Given the description of an element on the screen output the (x, y) to click on. 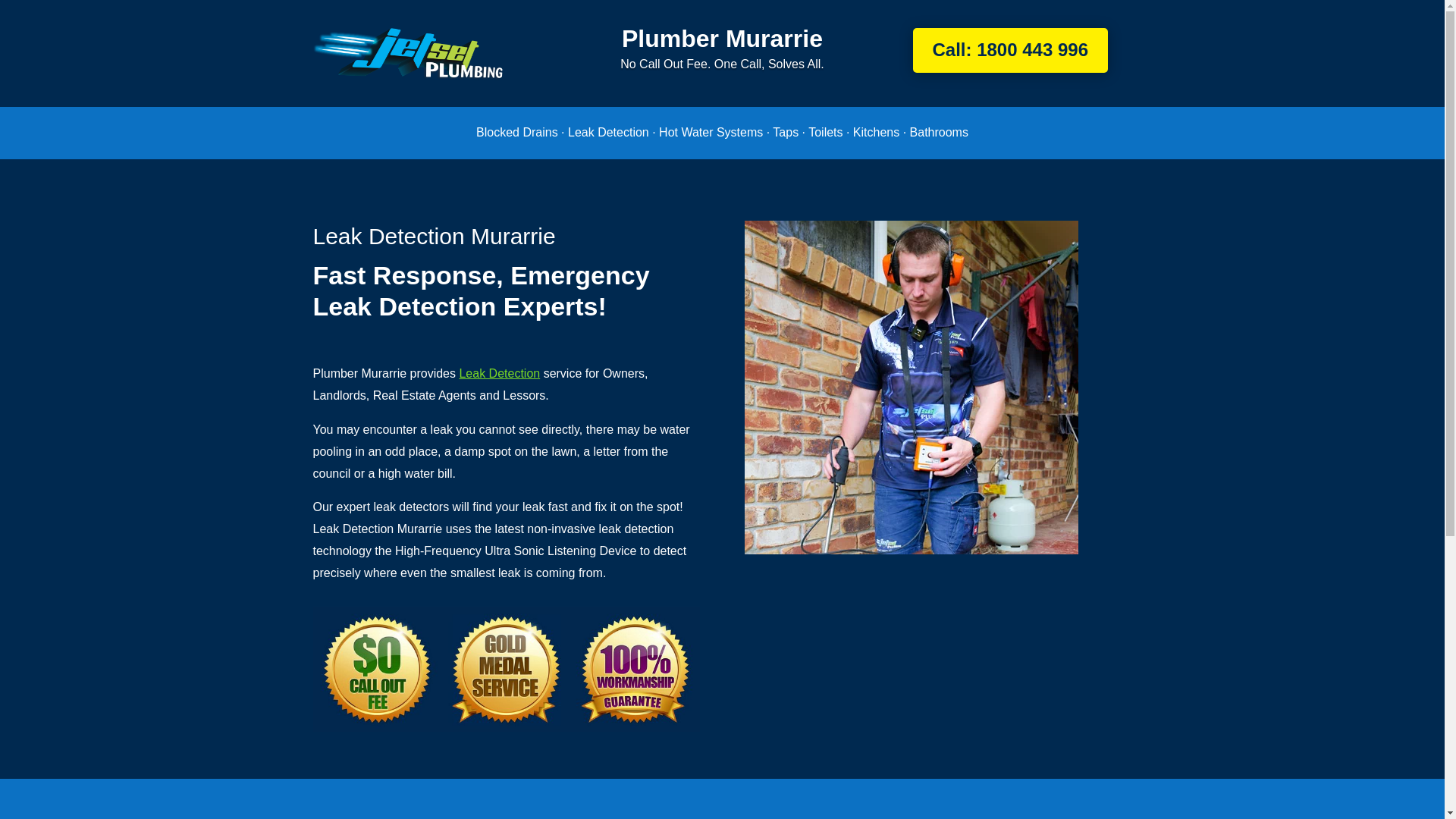
Call: 1800 443 996 (1010, 49)
Jetset Plumbing - Plumber Murarrie (407, 53)
Leak Detection (499, 373)
Leak Detection (499, 373)
Leak Detection Murarrie (911, 387)
Gold Medal Service (505, 669)
